Given the description of an element on the screen output the (x, y) to click on. 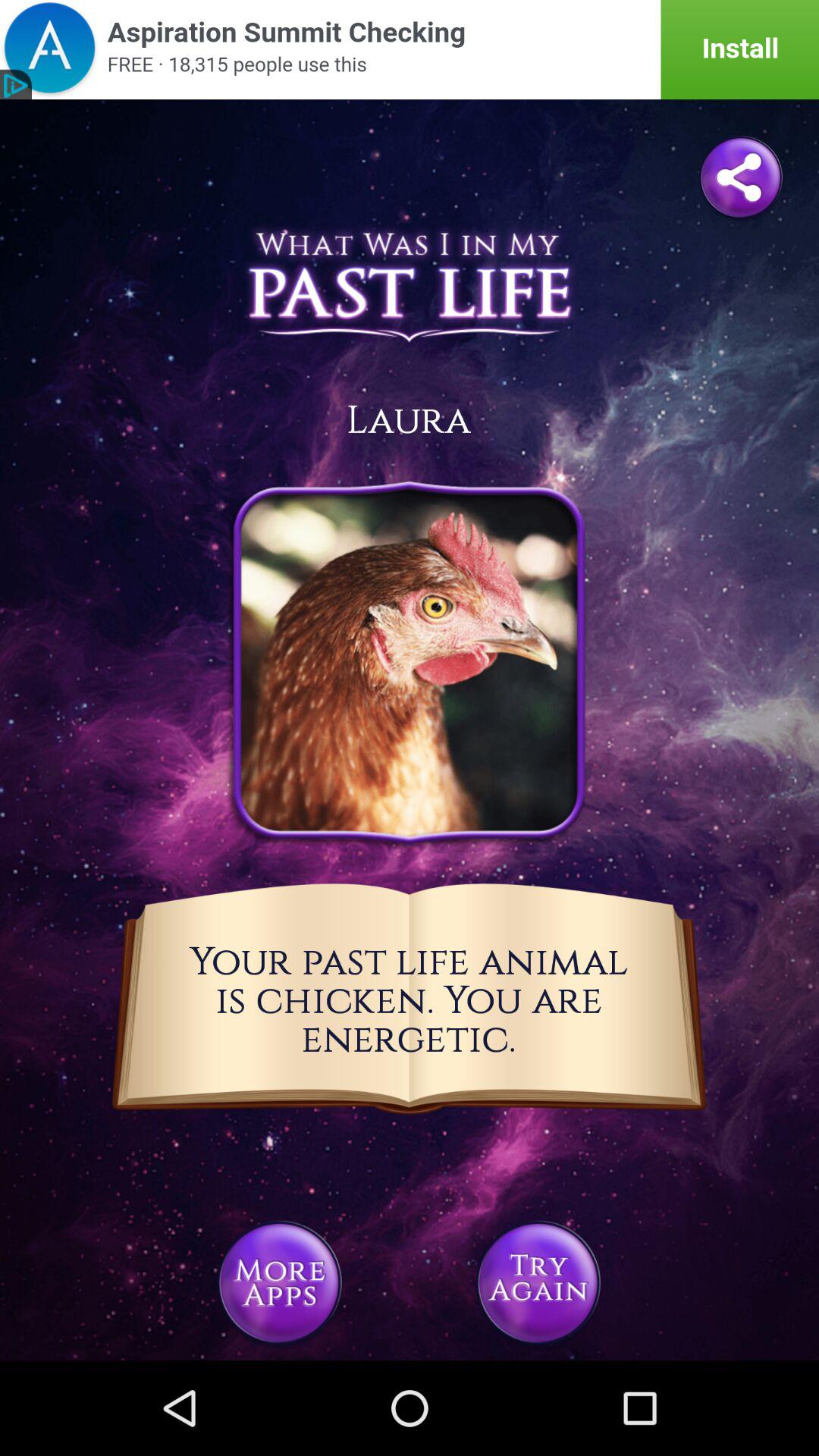
start installation of the app (409, 49)
